Given the description of an element on the screen output the (x, y) to click on. 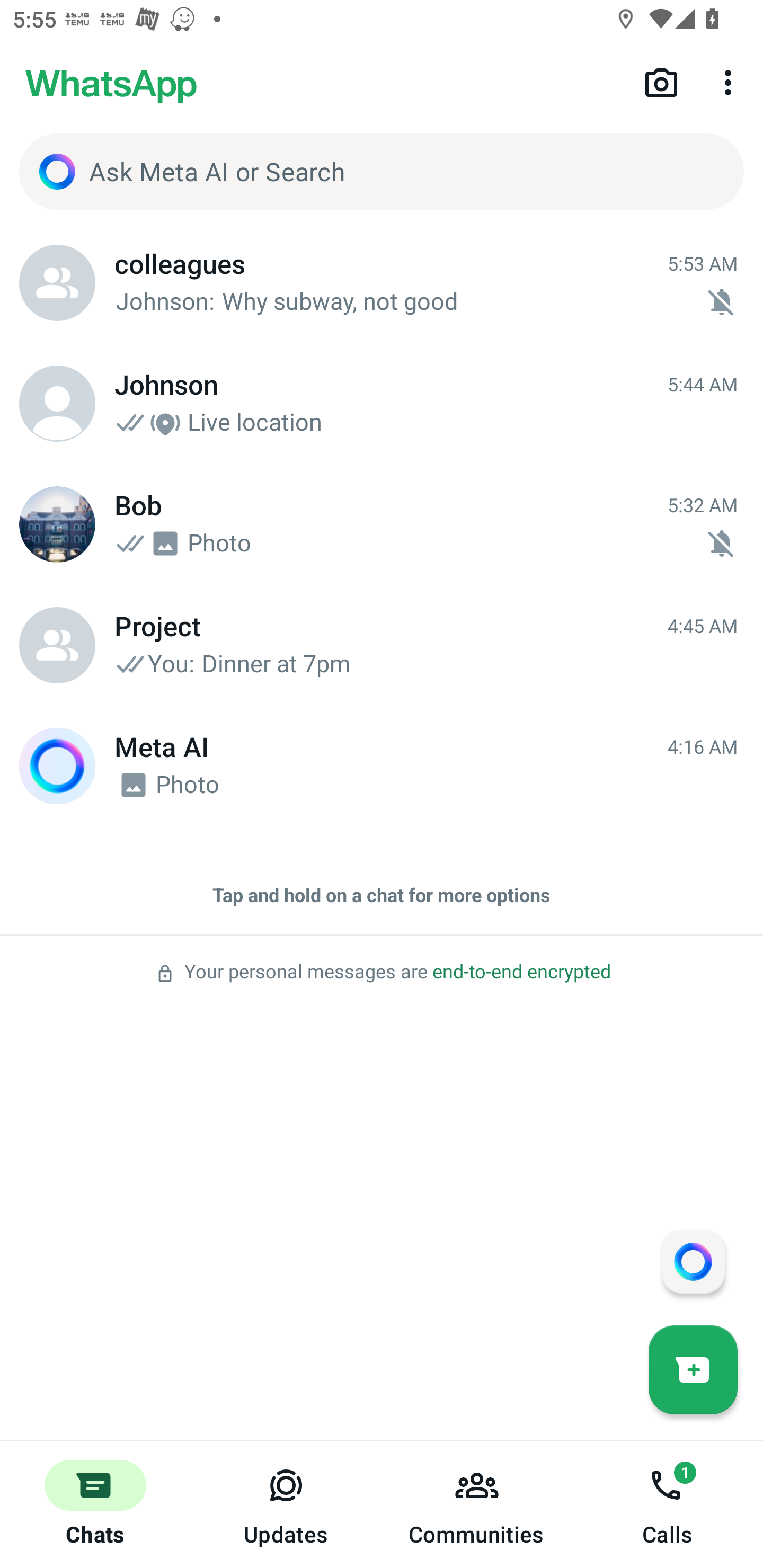
Camera (661, 81)
More options (731, 81)
colleagues (57, 282)
Johnson Johnson 5:44 AM 5:44 AM Live location (381, 403)
Johnson (57, 403)
Bob Bob 5:32 AM 5:32 AM Photo Mute notifications (381, 524)
Bob (57, 524)
Project (57, 644)
Meta AI Meta AI 4:16 AM 4:16 AM Photo (381, 765)
Meta AI (57, 765)
end-to-end encrypted (521, 972)
Message your assistant (692, 1261)
New chat (692, 1369)
Updates (285, 1504)
Communities (476, 1504)
Calls, 1 new notification Calls (667, 1504)
